Given the description of an element on the screen output the (x, y) to click on. 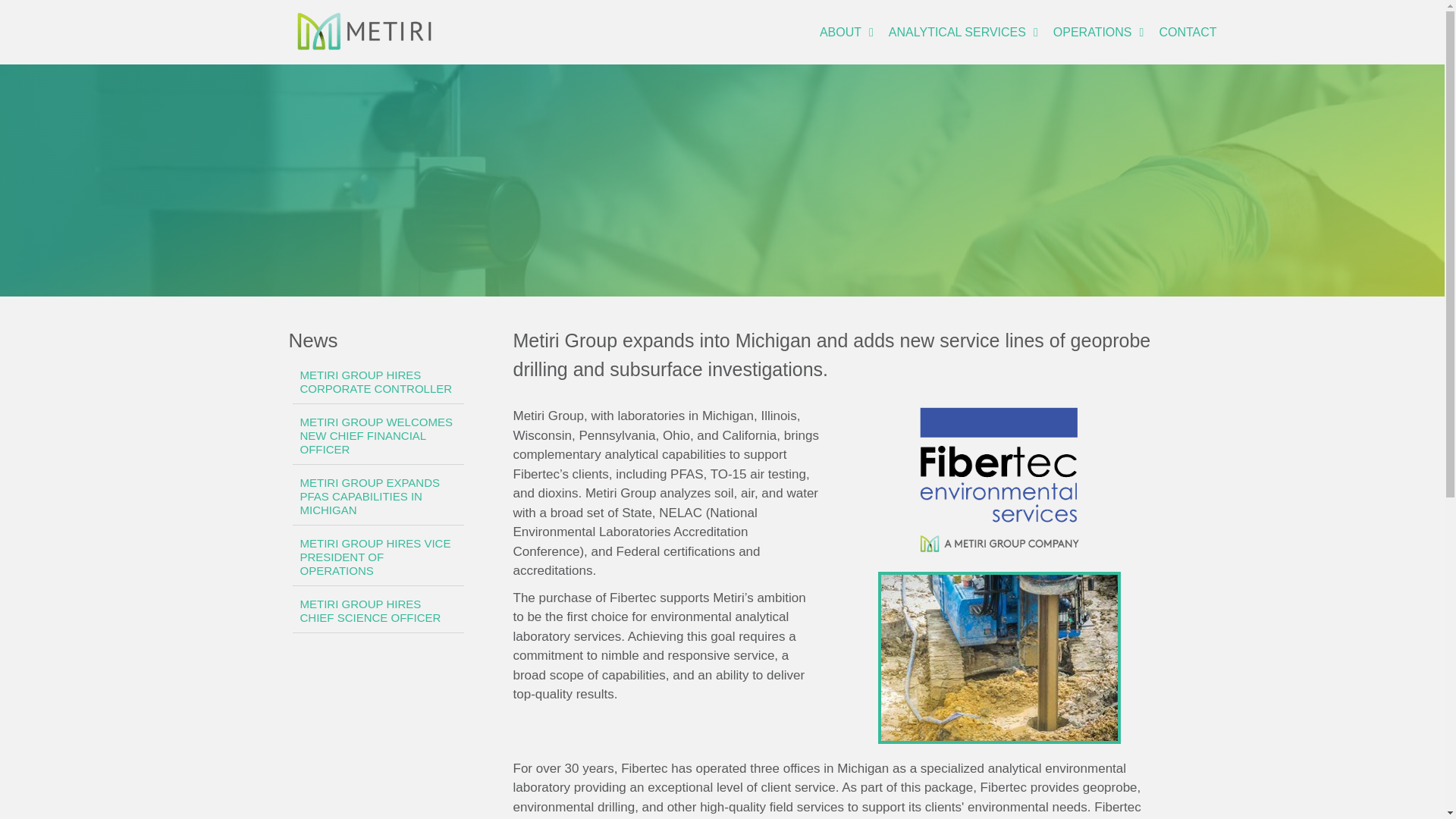
METIRI GROUP EXPANDS PFAS CAPABILITIES IN MICHIGAN (378, 496)
News (312, 340)
ABOUT (846, 31)
METIRI GROUP HIRES CHIEF SCIENCE OFFICER (378, 611)
METIRI GROUP WELCOMES NEW CHIEF FINANCIAL OFFICER (378, 436)
CONTACT (1187, 31)
METIRI GROUP HIRES CORPORATE CONTROLLER (378, 382)
fibertec-metiri-group-logo (999, 481)
METIRI GROUP HIRES VICE PRESIDENT OF OPERATIONS (378, 557)
fibertec-field-testing (999, 657)
